Given the description of an element on the screen output the (x, y) to click on. 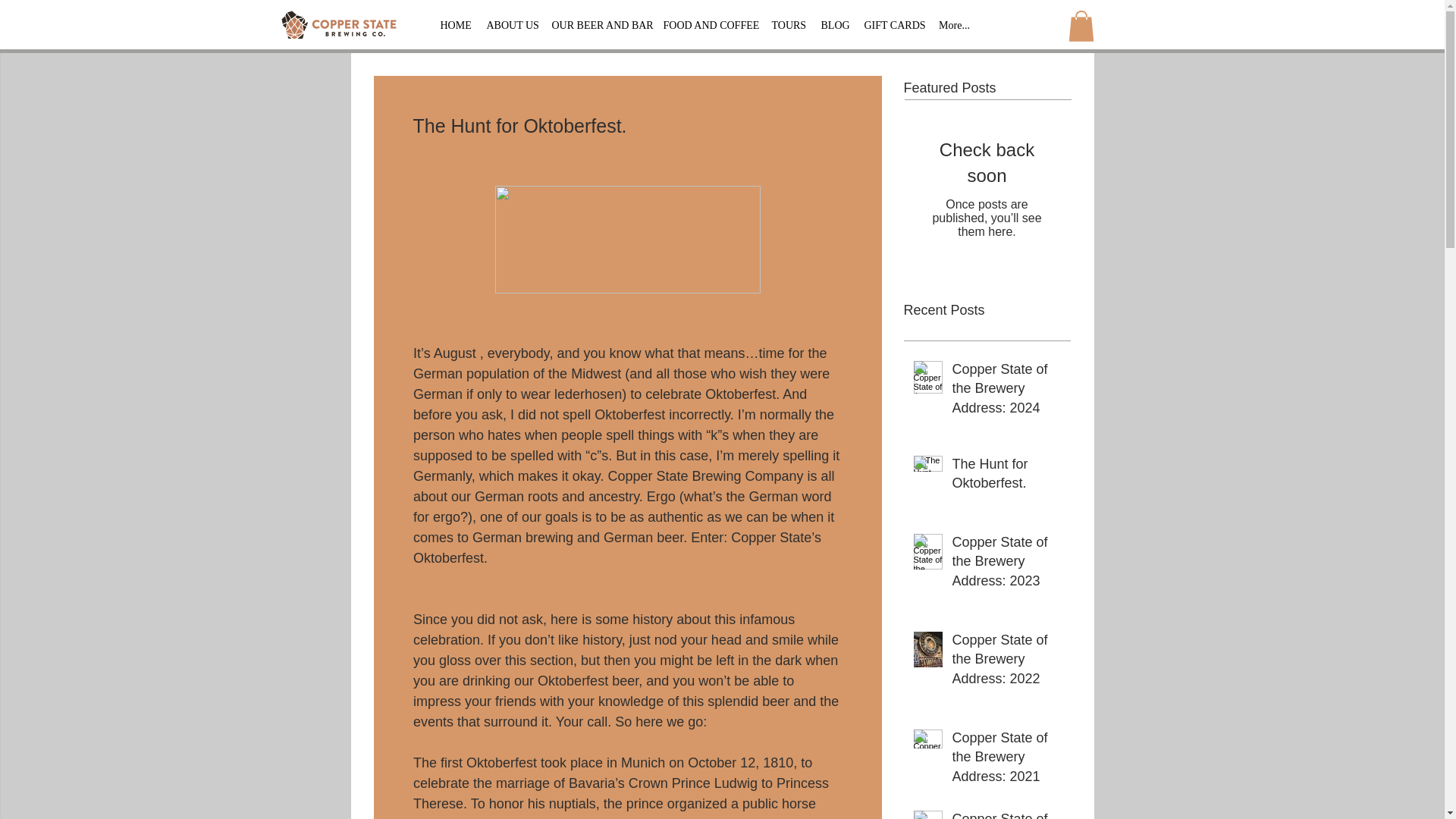
Copper State of the Brewery Address: 2021 (1006, 760)
Copper State of the Brewery Address: 2024 (1006, 392)
Copper State of the Brewery Address: 2023 (1006, 565)
BLOG (834, 24)
Copper State of the Brewery Address: 2022 (1006, 662)
TOURS (788, 24)
HOME (455, 24)
Copper State of the Brewery Address: 2020 (1006, 814)
ABOUT US (511, 24)
The Hunt for Oktoberfest. (1006, 476)
